Given the description of an element on the screen output the (x, y) to click on. 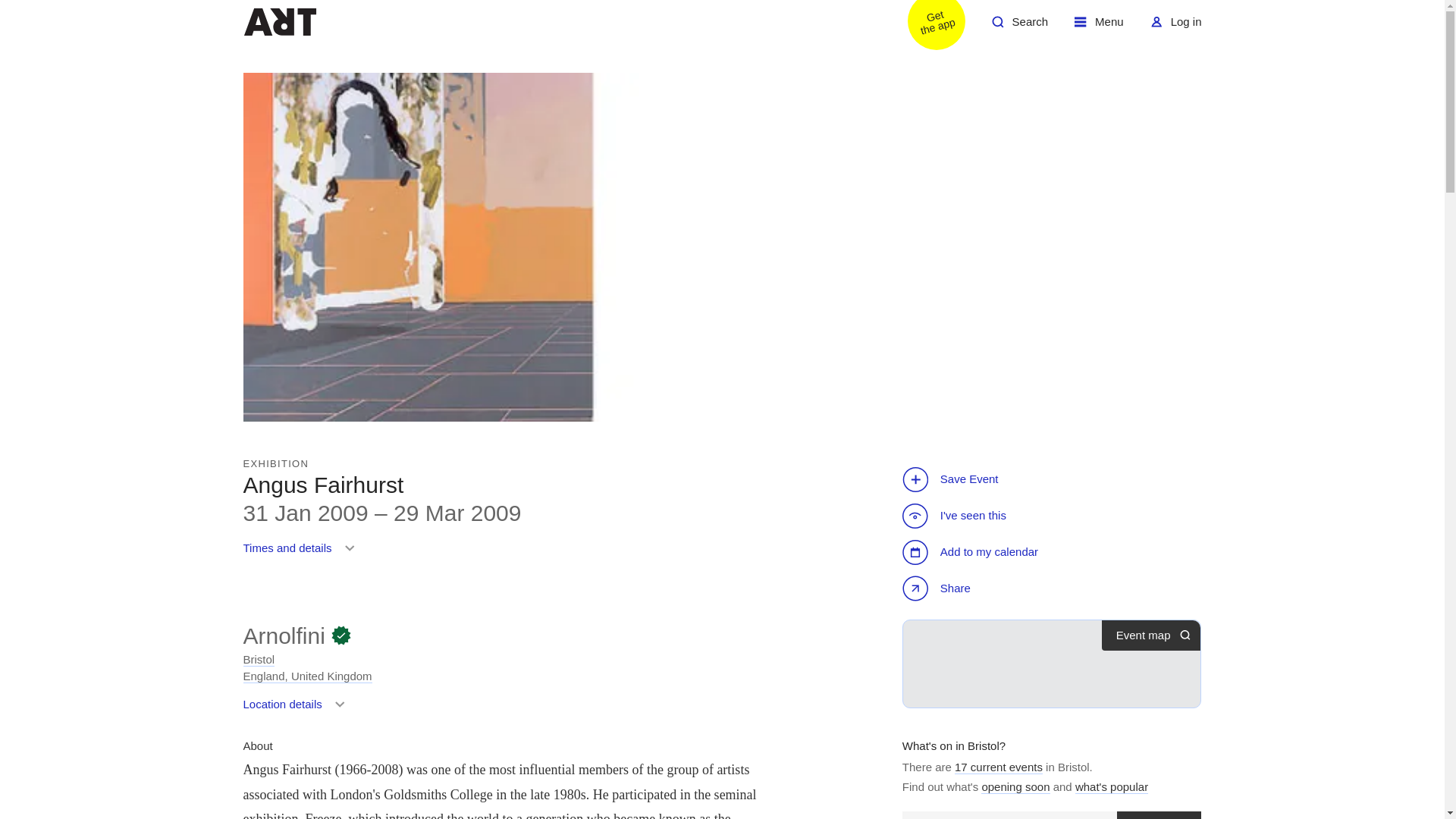
What's on in Bristol? (954, 745)
opening soon (926, 27)
Add to my calendar (1015, 786)
